Given the description of an element on the screen output the (x, y) to click on. 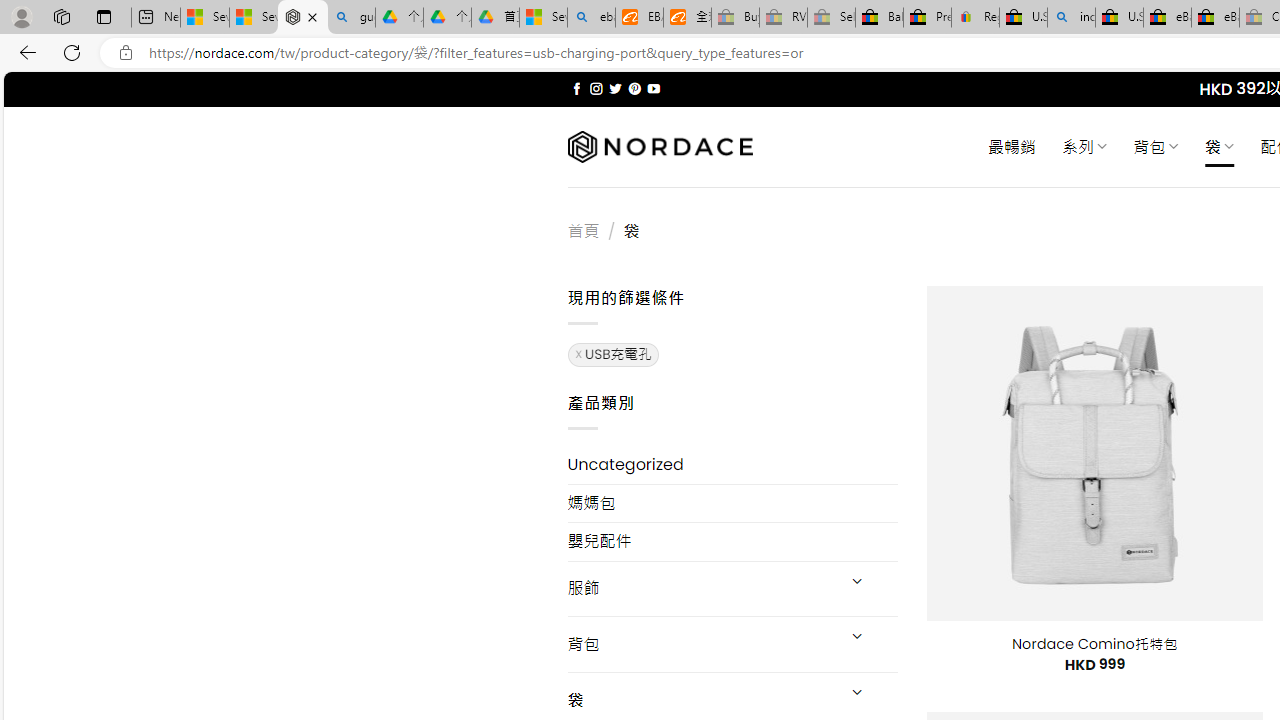
ebay - Search (591, 17)
eBay Inc. Reports Third Quarter 2023 Results (1215, 17)
Follow on Pinterest (634, 88)
